Given the description of an element on the screen output the (x, y) to click on. 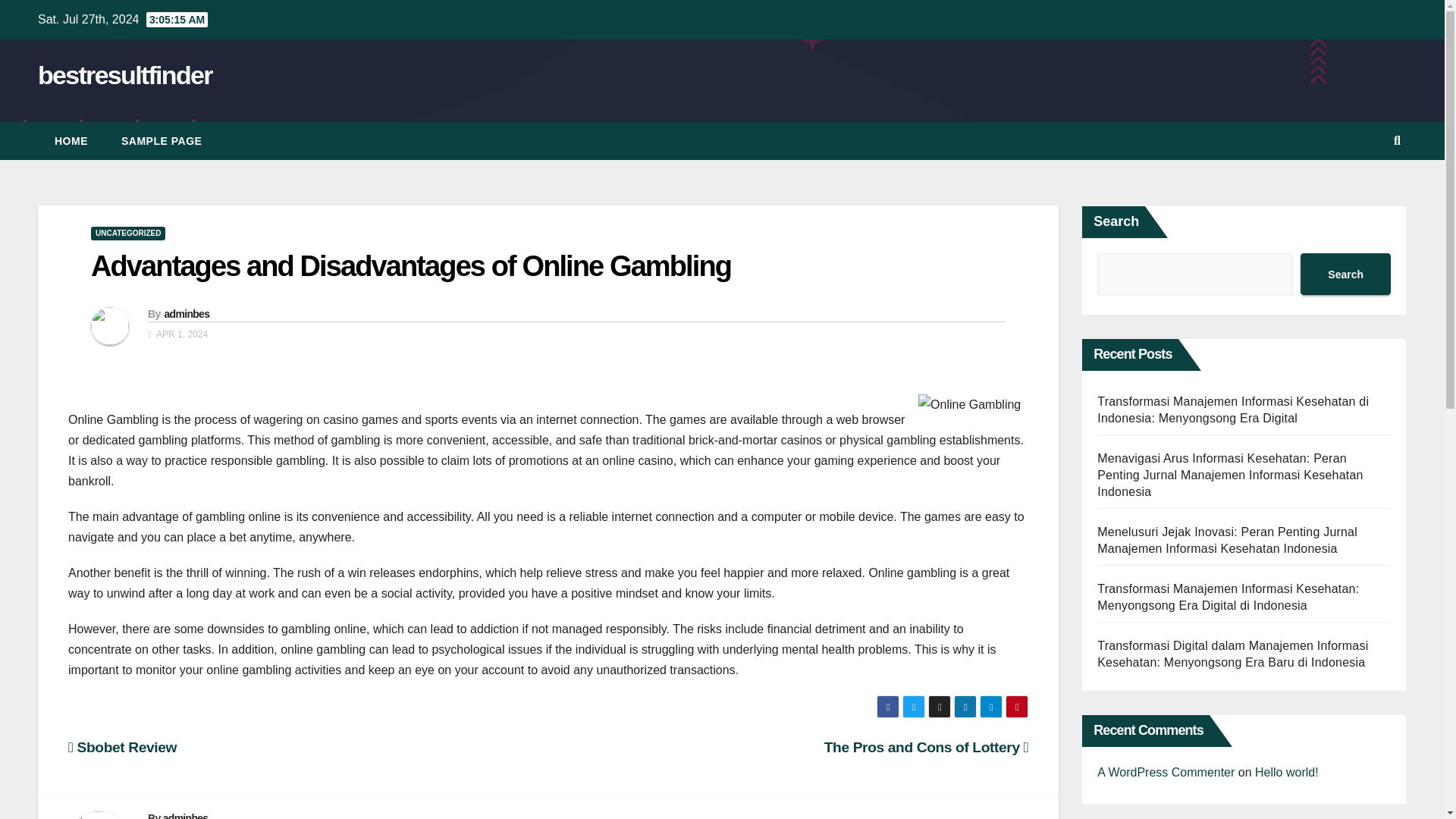
SAMPLE PAGE (161, 140)
HOME (70, 140)
adminbes (185, 815)
A WordPress Commenter (1165, 771)
bestresultfinder (124, 74)
Search (1345, 273)
UNCATEGORIZED (127, 233)
Advantages and Disadvantages of Online Gambling (410, 265)
Sbobet Review (122, 747)
The Pros and Cons of Lottery (925, 747)
